Given the description of an element on the screen output the (x, y) to click on. 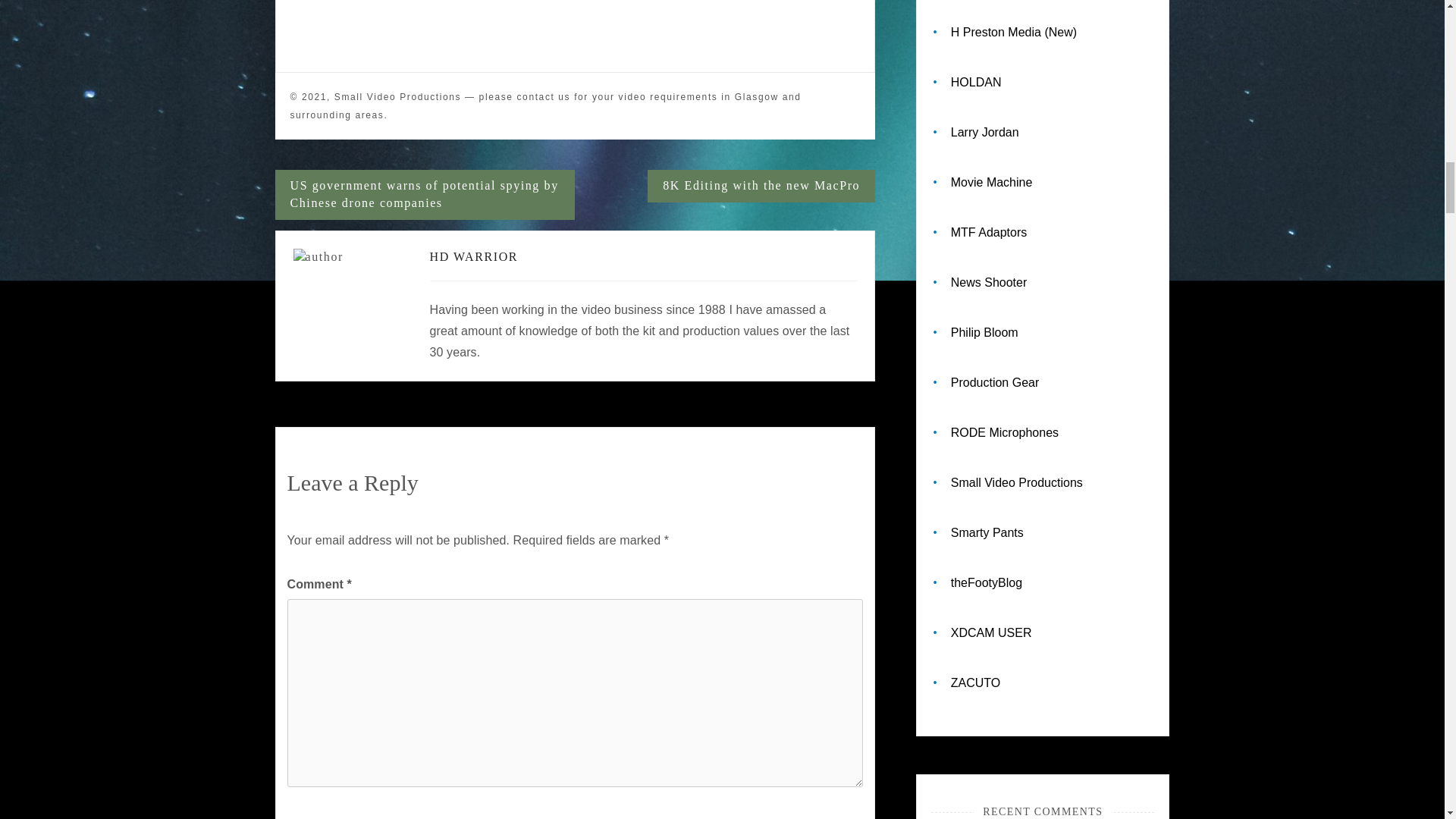
Posts by HD Warrior (473, 256)
A delight to deal with (1013, 31)
HD WARRIOR (473, 256)
8K Editing with the new MacPro (761, 185)
Distributers (975, 82)
